Given the description of an element on the screen output the (x, y) to click on. 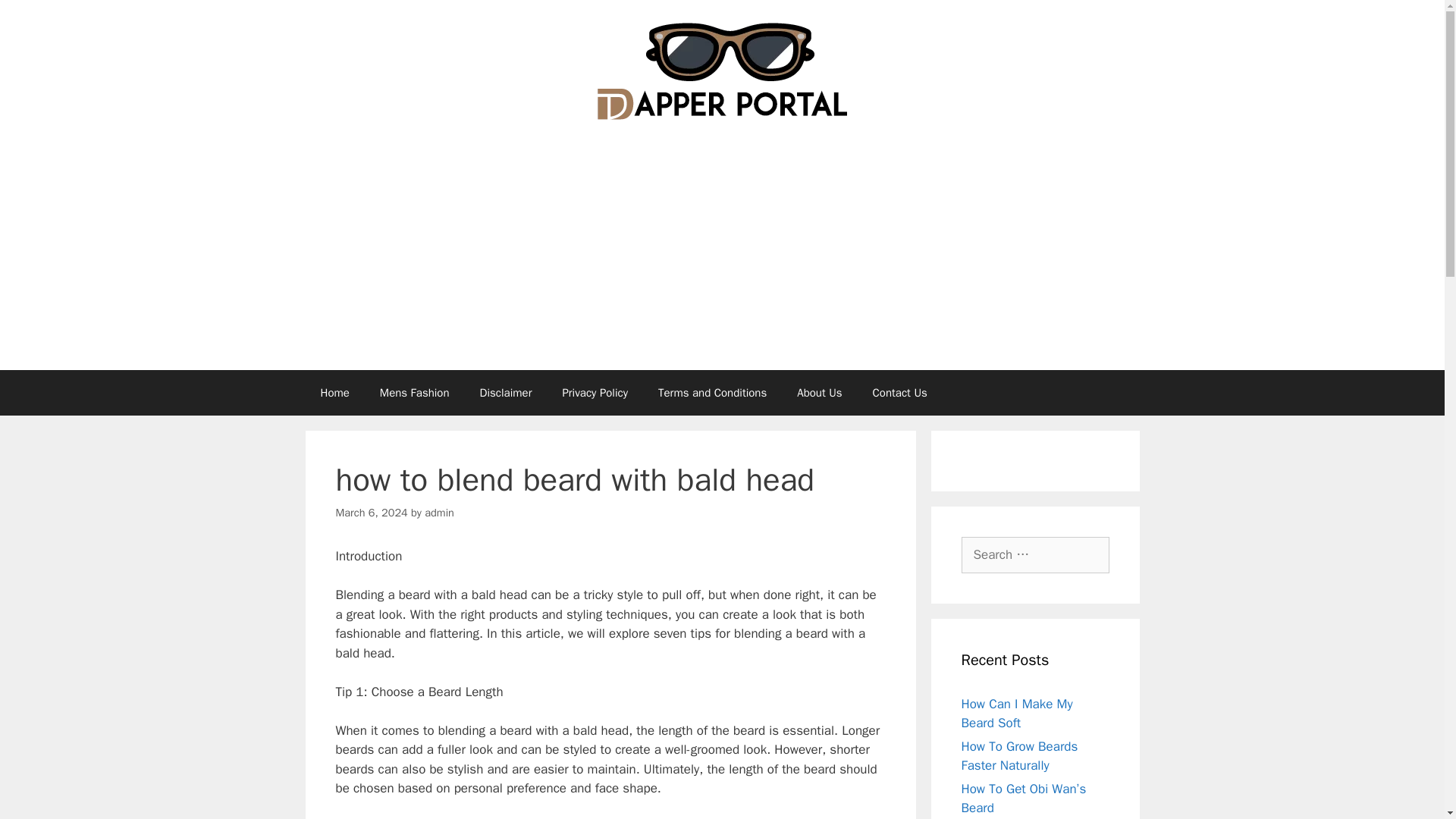
Home (334, 392)
Contact Us (899, 392)
admin (439, 512)
About Us (819, 392)
How Can I Make My Beard Soft (1016, 714)
View all posts by admin (439, 512)
Terms and Conditions (712, 392)
How To Grow Beards Faster Naturally (1019, 755)
Search (35, 18)
Search for: (1034, 555)
Mens Fashion (414, 392)
Privacy Policy (595, 392)
Disclaimer (505, 392)
